Given the description of an element on the screen output the (x, y) to click on. 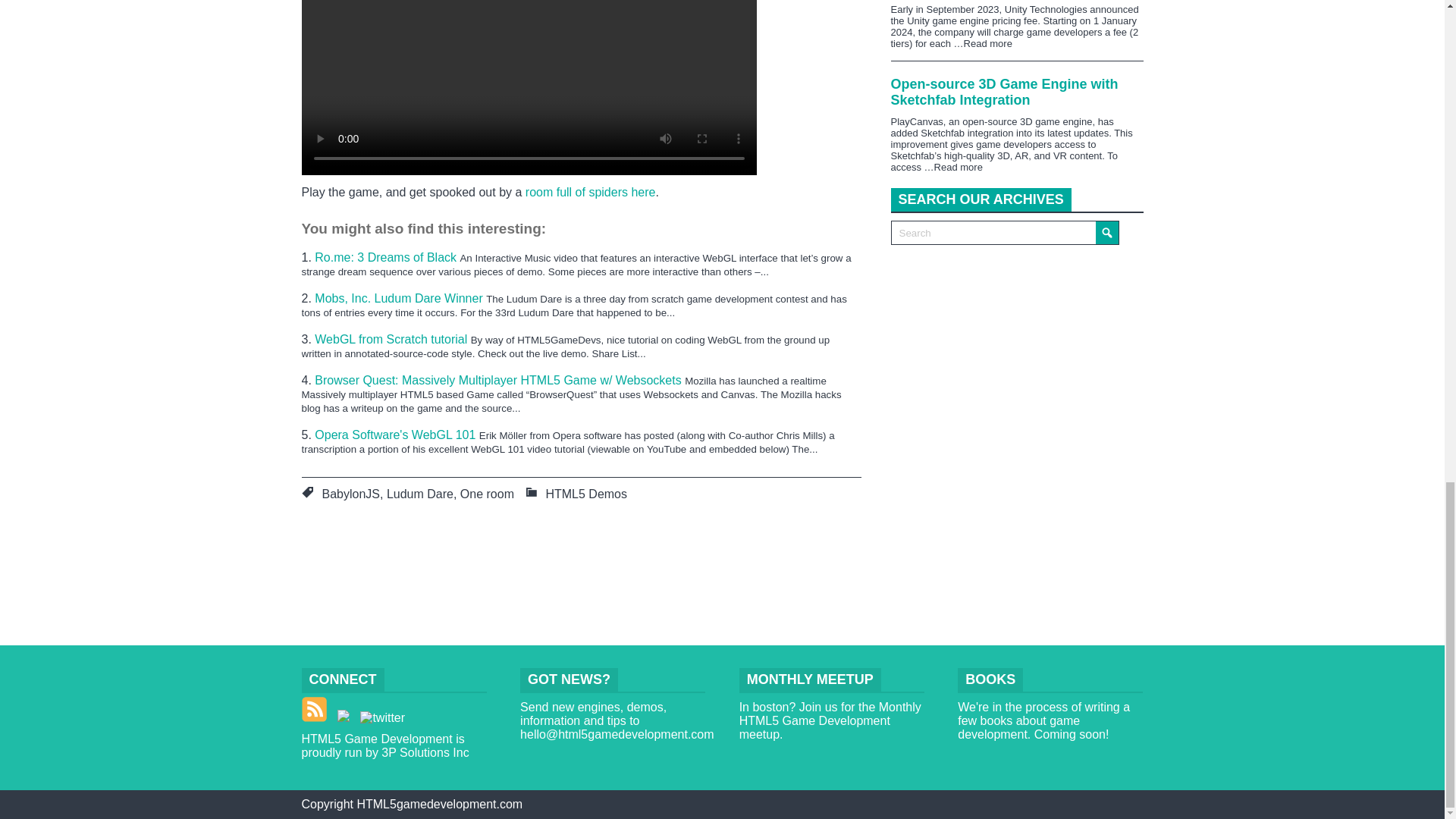
One room (486, 493)
Mobs, Inc. Ludum Dare Winner (400, 297)
Ro.me: 3 Dreams of Black (387, 256)
Ro.me: 3 Dreams of Black (387, 256)
Ludum Dare (419, 493)
Mobs, Inc. Ludum Dare Winner (400, 297)
BabylonJS (350, 493)
Opera Software's WebGL 101 (396, 434)
Opera Software's WebGL 101 (396, 434)
room full of spiders here (590, 192)
